Given the description of an element on the screen output the (x, y) to click on. 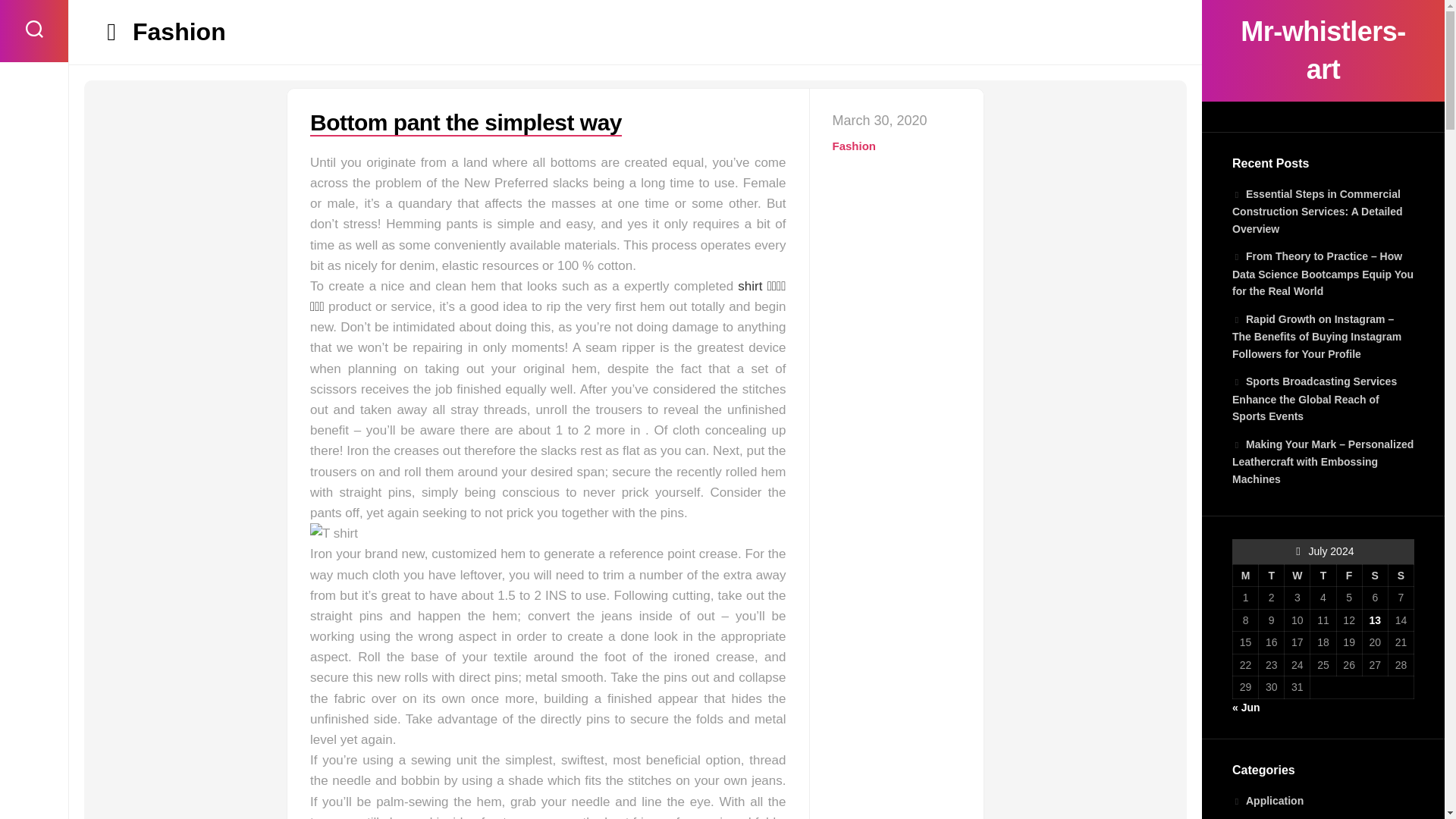
Sunday (1400, 575)
Thursday (1323, 575)
Saturday (1374, 575)
Monday (1246, 575)
Friday (1348, 575)
Tuesday (1271, 575)
Mr-whistlers-art (1322, 50)
13 (1374, 620)
Application (1267, 800)
Wednesday (1297, 575)
